Given the description of an element on the screen output the (x, y) to click on. 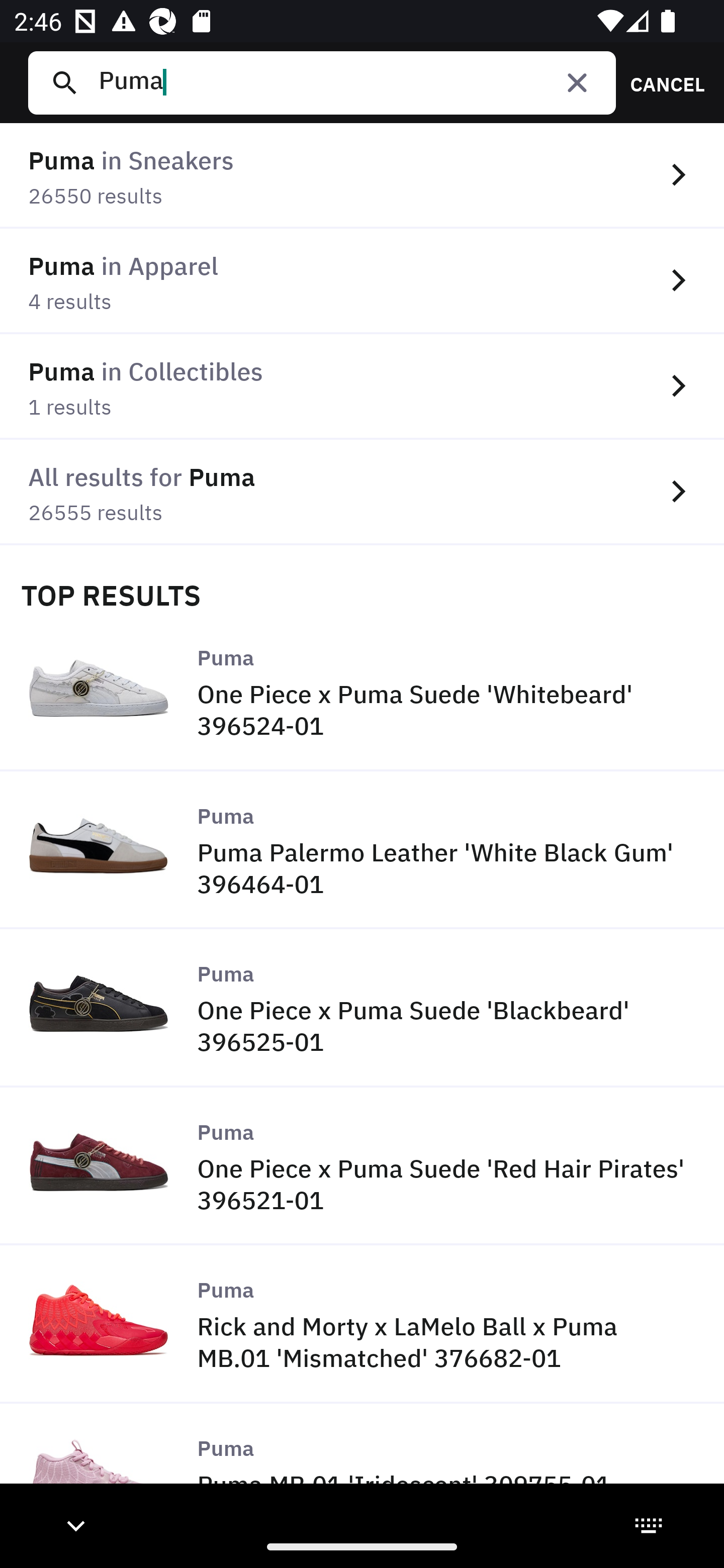
CANCEL (660, 82)
Puma (349, 82)
 (577, 82)
Puma  in Sneakers 26550 results  (362, 175)
Puma  in Apparel 4 results  (362, 280)
Puma  in Collectibles 1 results  (362, 386)
All results for  Puma 26555 results  (362, 492)
Puma One Piece x Puma Suede 'Whitebeard' 396524‑01 (362, 692)
Puma One Piece x Puma Suede 'Blackbeard' 396525‑01 (362, 1008)
